Given the description of an element on the screen output the (x, y) to click on. 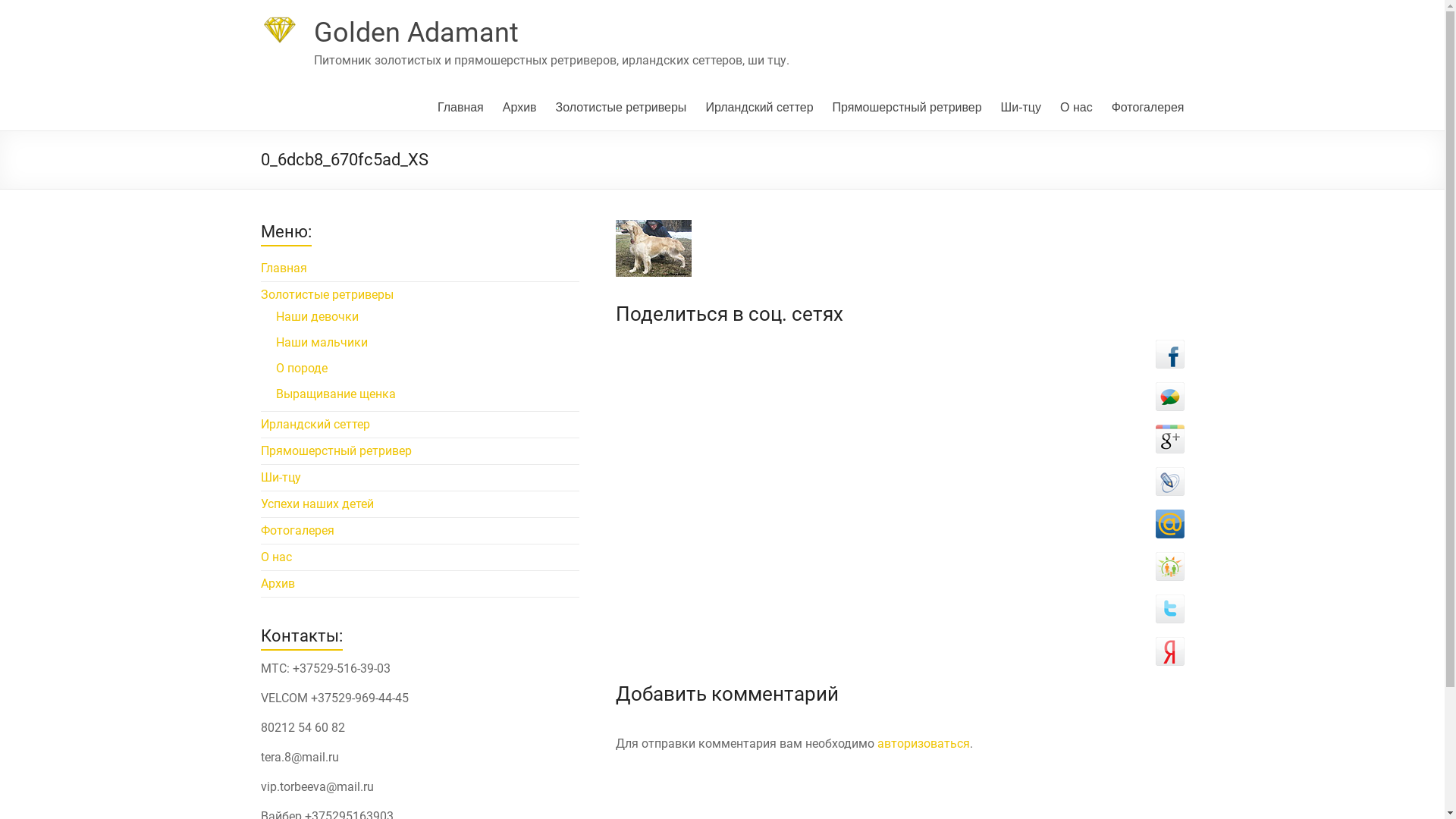
Golden Adamant Element type: text (415, 32)
